Given the description of an element on the screen output the (x, y) to click on. 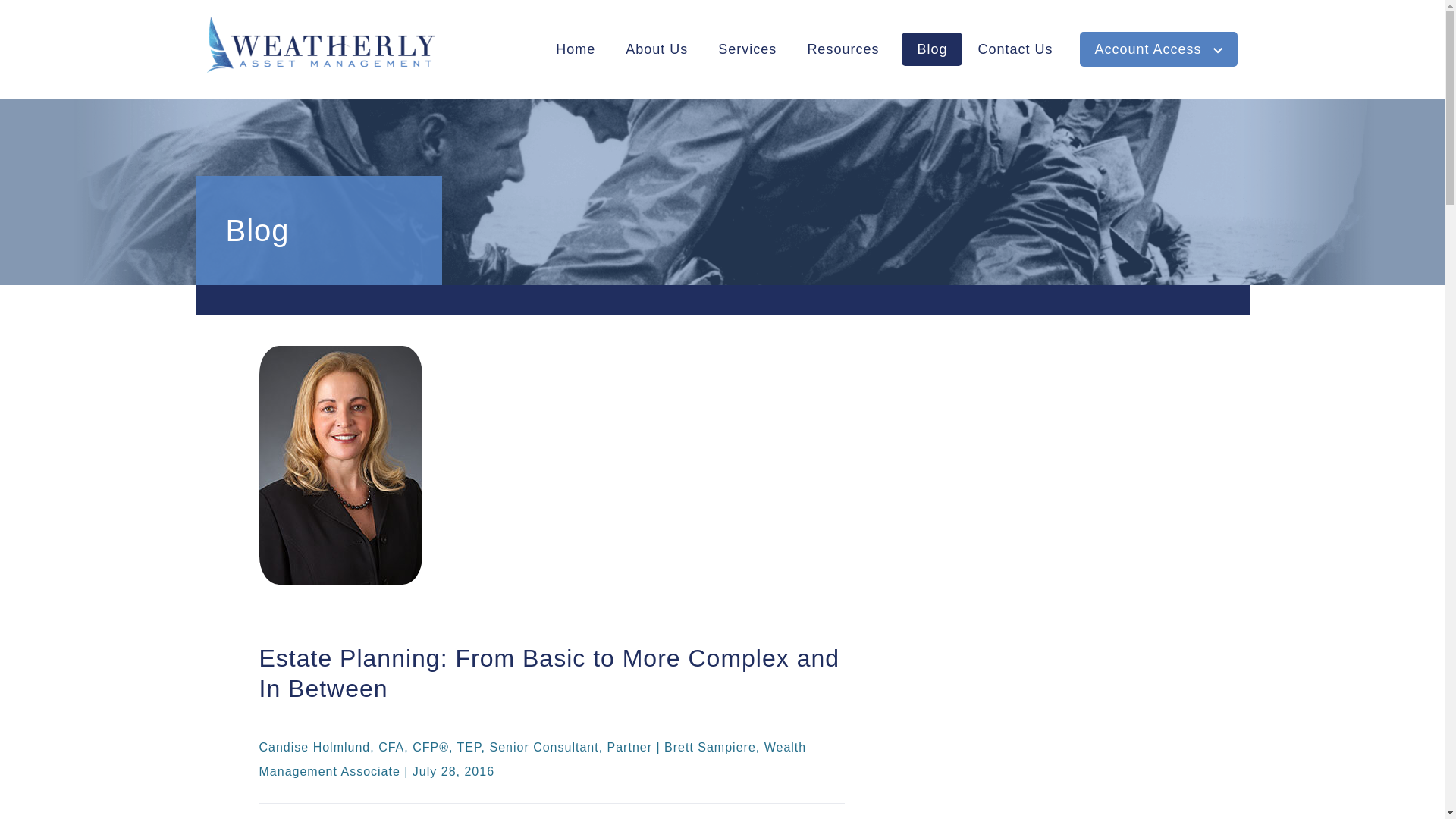
Services (747, 49)
Weatherly Asset Management (314, 44)
Account Access (1158, 48)
Contact Us (1014, 49)
Blog (931, 49)
Resources (842, 49)
About Us (656, 49)
Home (575, 49)
